Given the description of an element on the screen output the (x, y) to click on. 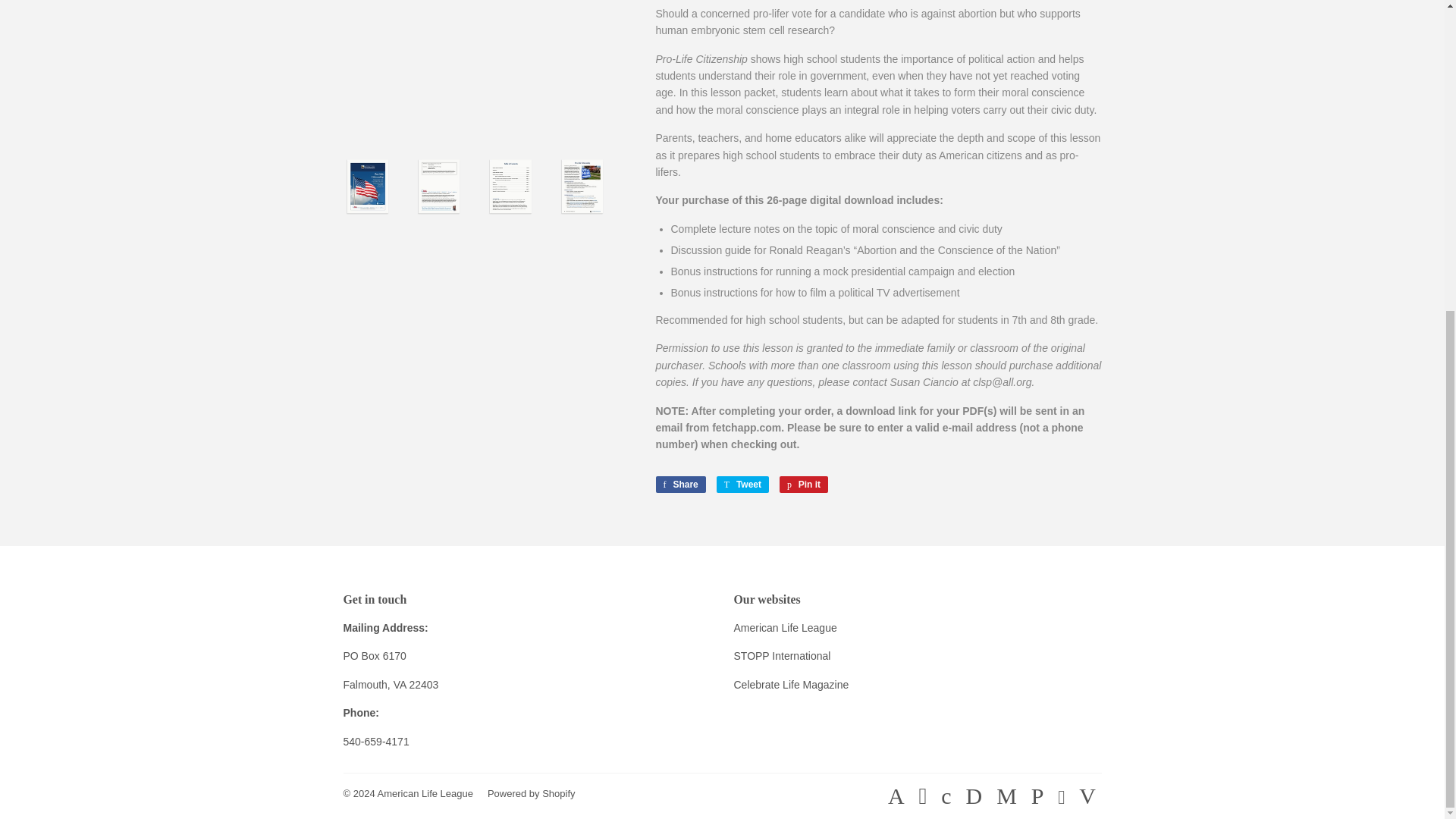
STOPP International (782, 655)
Tweet on Twitter (742, 484)
Celebrate Life Magazine (790, 684)
Powered by Shopify (531, 793)
Pin on Pinterest (803, 484)
American Life League (425, 793)
Share on Facebook (679, 484)
